Given the description of an element on the screen output the (x, y) to click on. 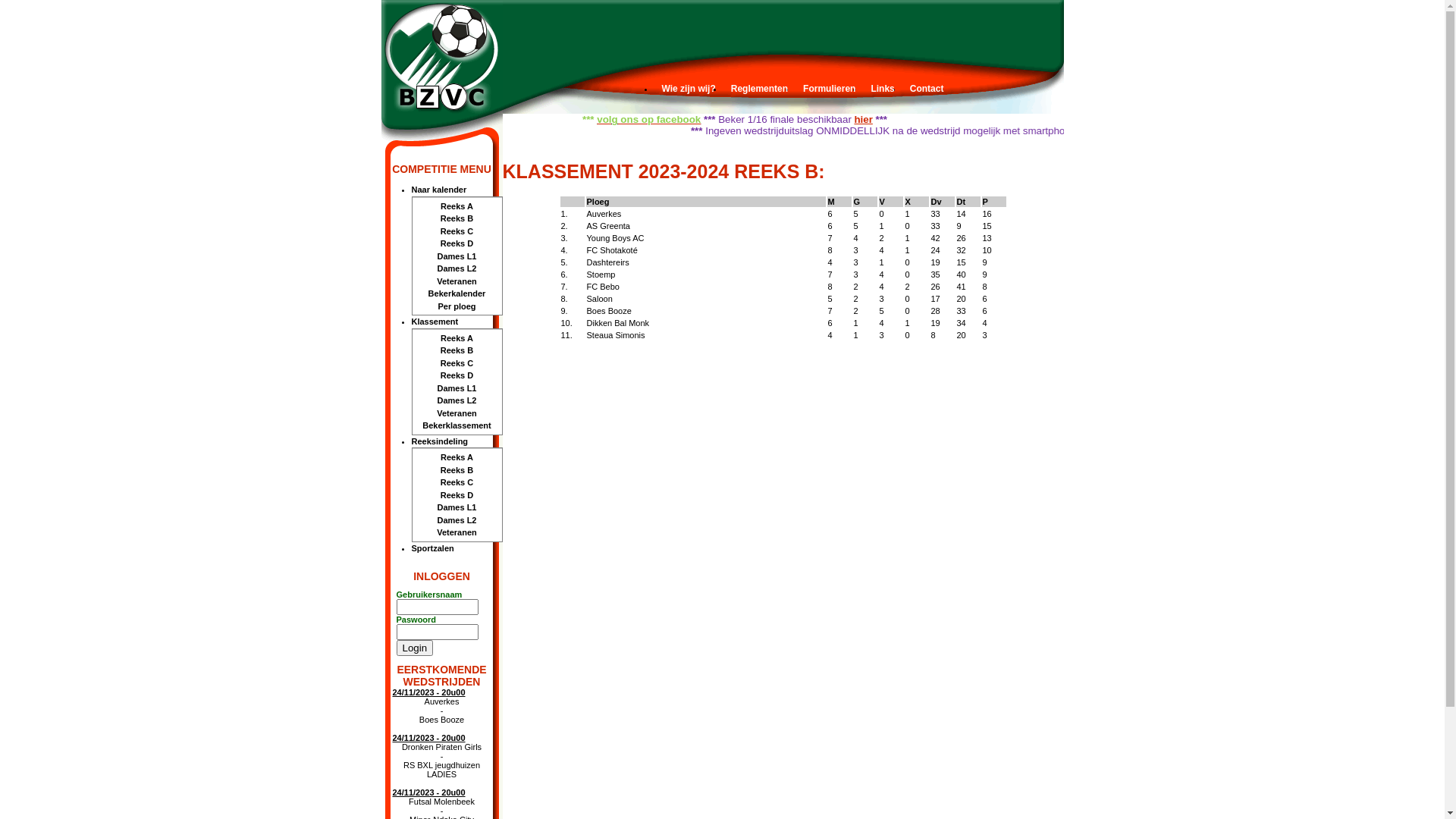
Login Element type: text (414, 647)
Reeks C Element type: text (457, 230)
Klassement Element type: text (456, 321)
Links Element type: text (881, 88)
Reeks B Element type: text (457, 350)
Dames L1 Element type: text (457, 256)
Reeks C Element type: text (457, 482)
Reeks C Element type: text (457, 362)
Per ploeg Element type: text (457, 306)
Reeks A Element type: text (457, 338)
Reeks D Element type: text (457, 243)
Bekerkalender Element type: text (457, 293)
Reeks D Element type: text (457, 375)
Sportzalen Element type: text (456, 547)
Reeksindeling Element type: text (456, 441)
Wie zijn wij? Element type: text (687, 88)
Contact Element type: text (926, 88)
Reglementen Element type: text (759, 88)
Dames L1 Element type: text (457, 388)
Veteranen Element type: text (457, 532)
Reeks A Element type: text (457, 206)
Dames L2 Element type: text (457, 400)
Dames L1 Element type: text (457, 507)
Formulieren Element type: text (828, 88)
Dames L2 Element type: text (457, 268)
volg ons op facebook Element type: text (829, 119)
Reeks A Element type: text (457, 457)
Dames L2 Element type: text (457, 520)
Reeks D Element type: text (457, 494)
Veteranen Element type: text (457, 280)
Bekerklassement Element type: text (457, 425)
Reeks B Element type: text (457, 470)
Reeks B Element type: text (457, 218)
Veteranen Element type: text (457, 412)
Naar kalender Element type: text (456, 189)
hier Element type: text (1042, 119)
